Given the description of an element on the screen output the (x, y) to click on. 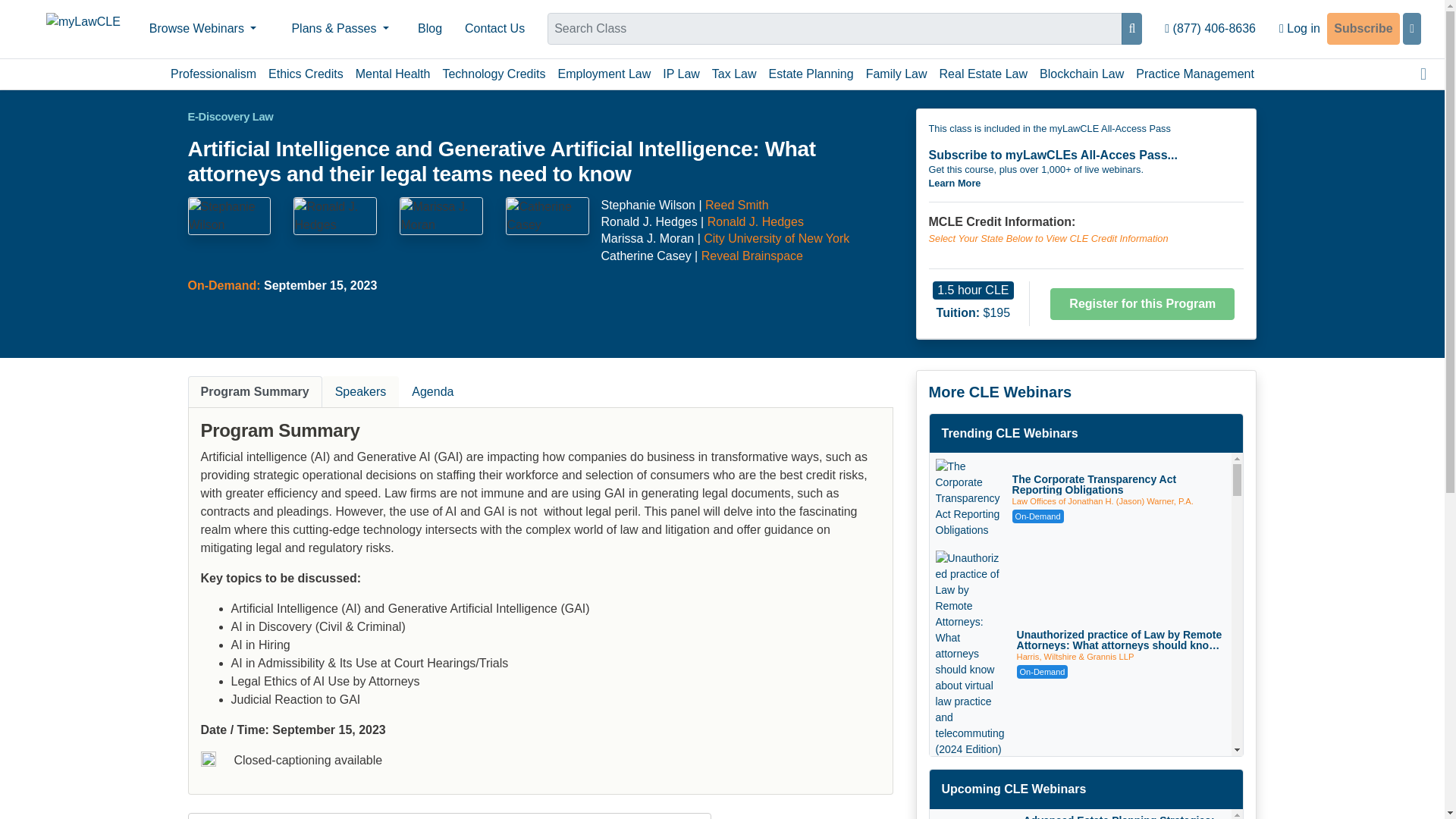
IRS Penalty Abatement Made Easy (964, 794)
The Corporate Transparency Act Reporting Obligations (1118, 484)
IRS Penalty Abatement Made Easy (1114, 787)
Browse Webinars (202, 28)
